Given the description of an element on the screen output the (x, y) to click on. 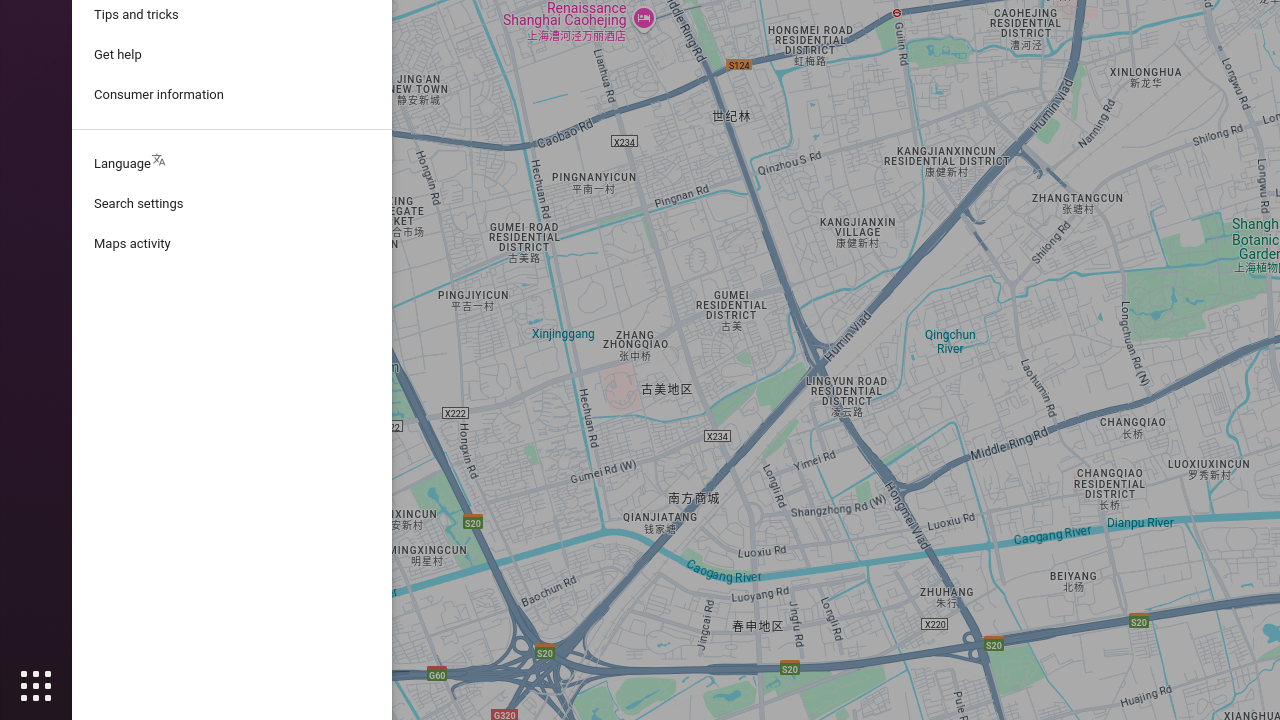
Tips and tricks Element type: menu-item (232, 15)
